Given the description of an element on the screen output the (x, y) to click on. 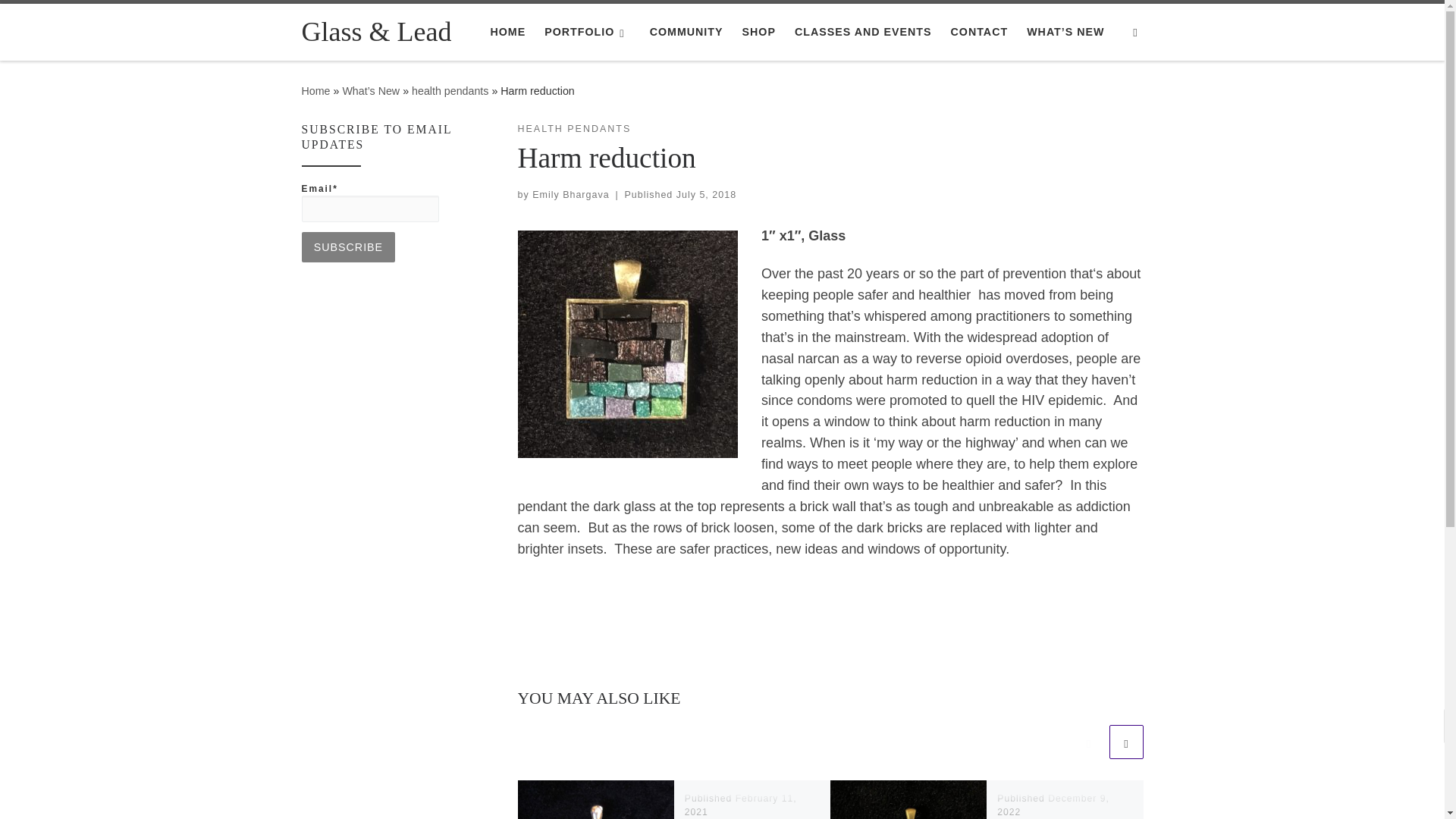
Search (1135, 32)
SHOP (758, 31)
HEALTH PENDANTS (573, 129)
COMMUNITY (685, 31)
Subscribe (348, 246)
Home (315, 91)
Next related articles (1125, 741)
View all posts in health pendants (573, 129)
HOME (506, 31)
Previous related articles (1088, 741)
PORTFOLIO (587, 31)
July 5, 2018 (706, 194)
CLASSES AND EVENTS (863, 31)
health pendants (449, 91)
